Given the description of an element on the screen output the (x, y) to click on. 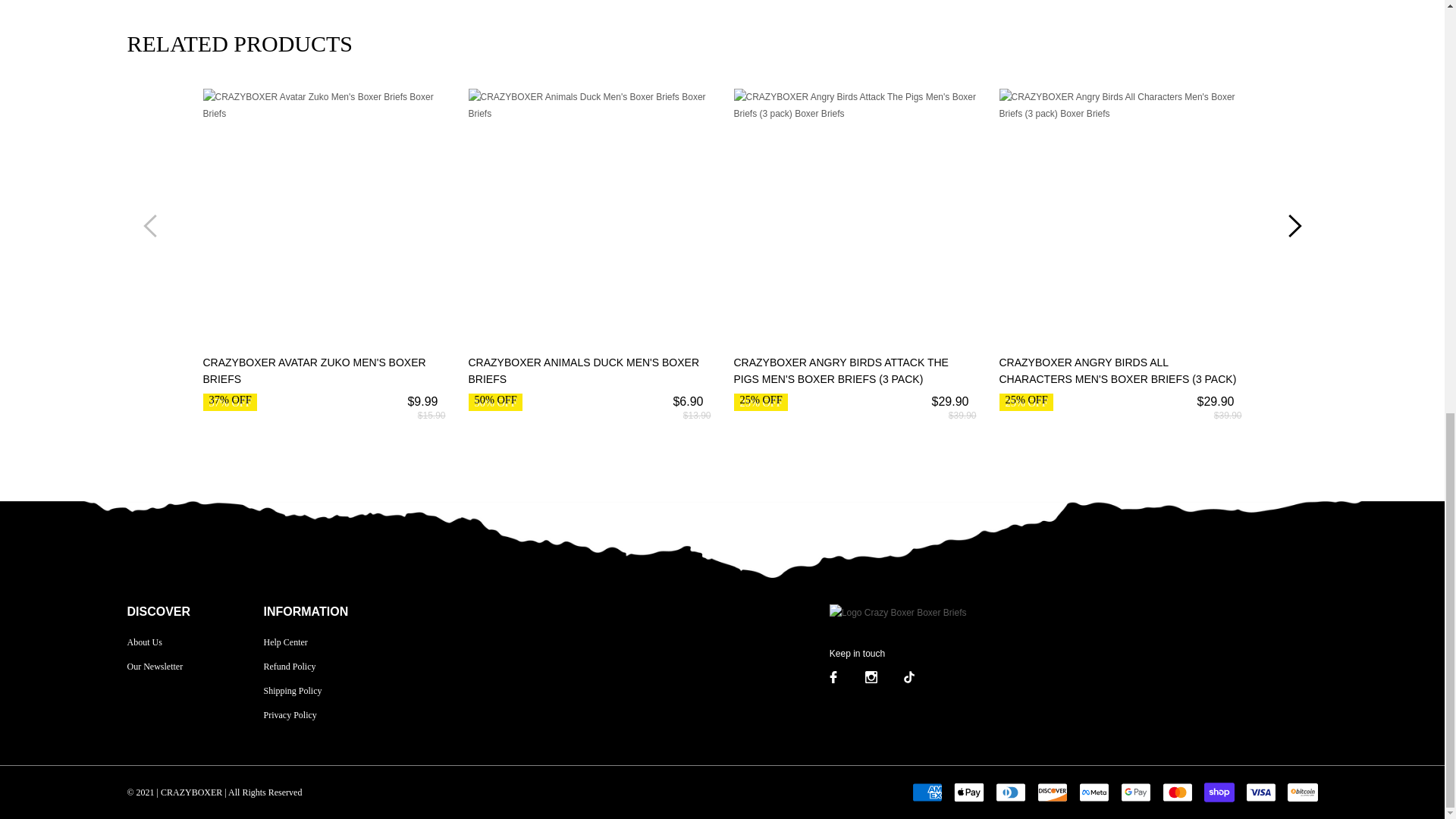
Apple Pay (968, 792)
Meta Pay (1093, 792)
American Express (926, 792)
Diners Club (1009, 792)
Discover (1051, 792)
